Given the description of an element on the screen output the (x, y) to click on. 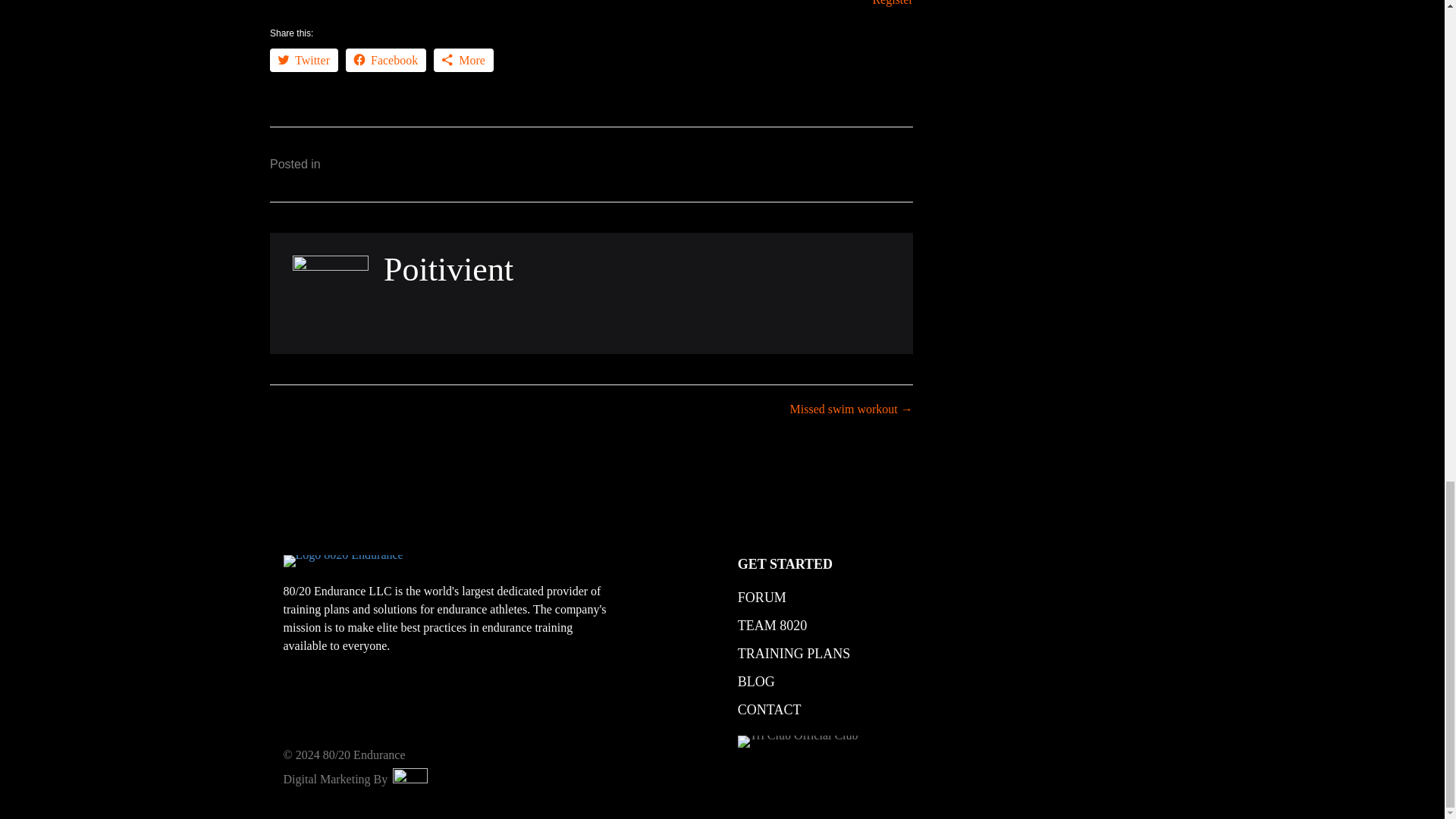
More (463, 60)
Click to share on Twitter (303, 60)
Twitter (303, 60)
Register (892, 2)
Click to share on Facebook (386, 60)
Facebook (386, 60)
logo 8020 Endurance (343, 561)
